Given the description of an element on the screen output the (x, y) to click on. 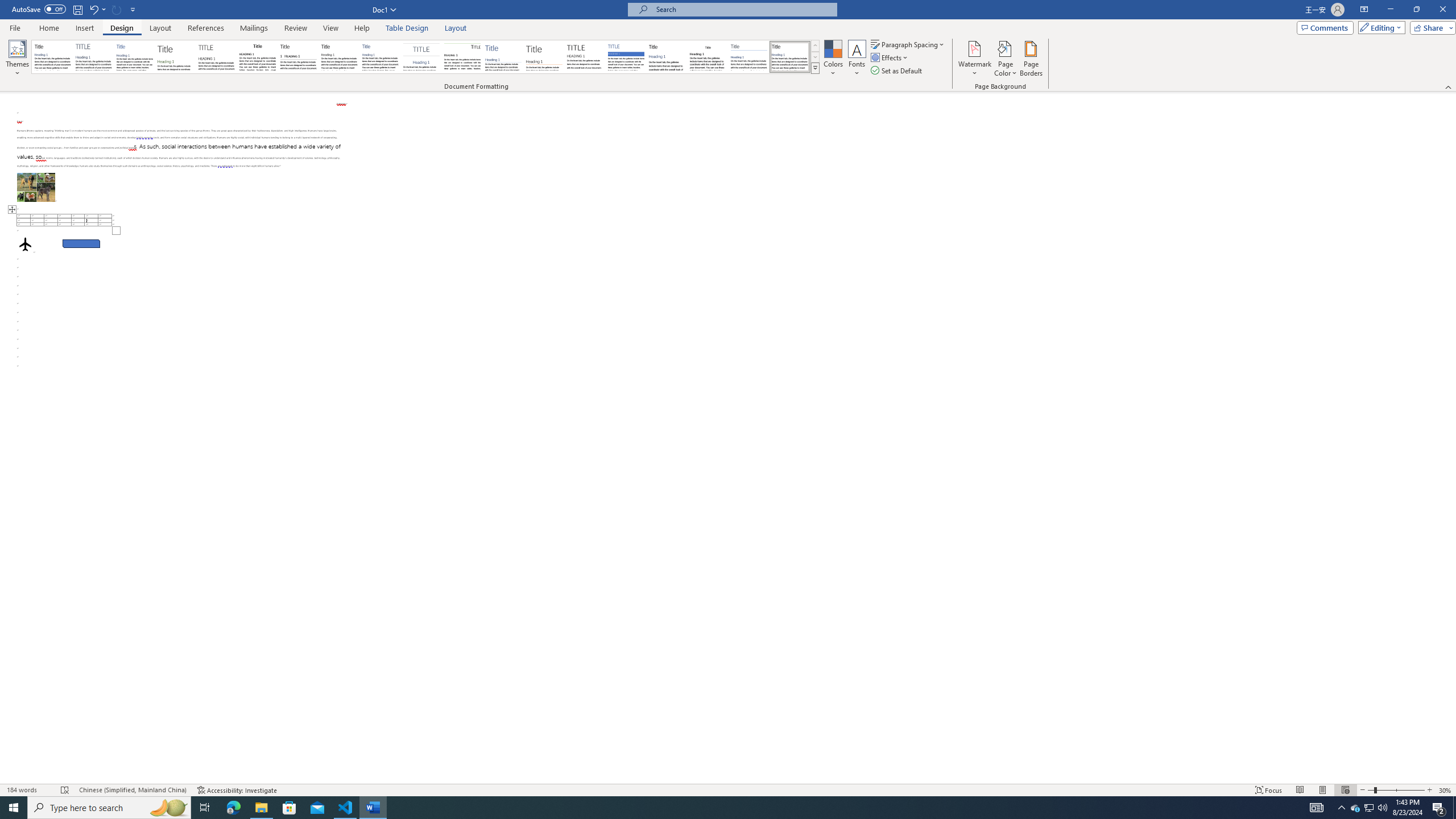
Lines (Simple) (503, 56)
Minimalist (584, 56)
Word 2003 (707, 56)
Word Count 184 words (28, 790)
Undo Apply Quick Style Set (92, 9)
Themes (17, 58)
Basic (Simple) (135, 56)
Word (666, 56)
Word 2013 (790, 56)
